Given the description of an element on the screen output the (x, y) to click on. 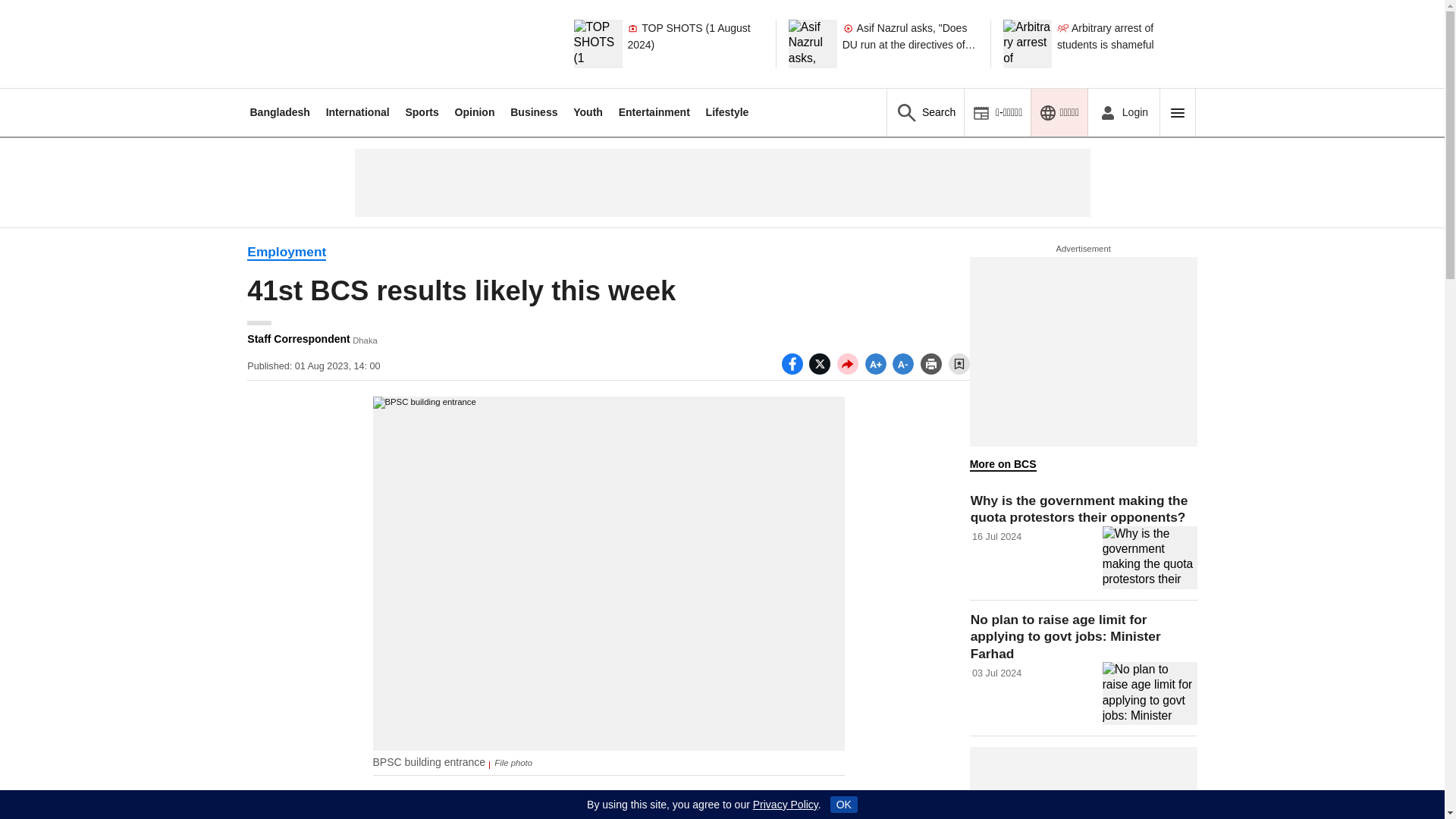
Bangladesh (278, 111)
Youth (587, 111)
Opinion (474, 111)
International (358, 111)
Business (534, 111)
Employment (286, 252)
Lifestyle (727, 111)
OK (843, 804)
Entertainment (654, 111)
Login (1122, 112)
Privacy Policy (785, 804)
Arbitrary arrest of students is shameful (1126, 43)
Sports (421, 111)
Search (924, 112)
